Given the description of an element on the screen output the (x, y) to click on. 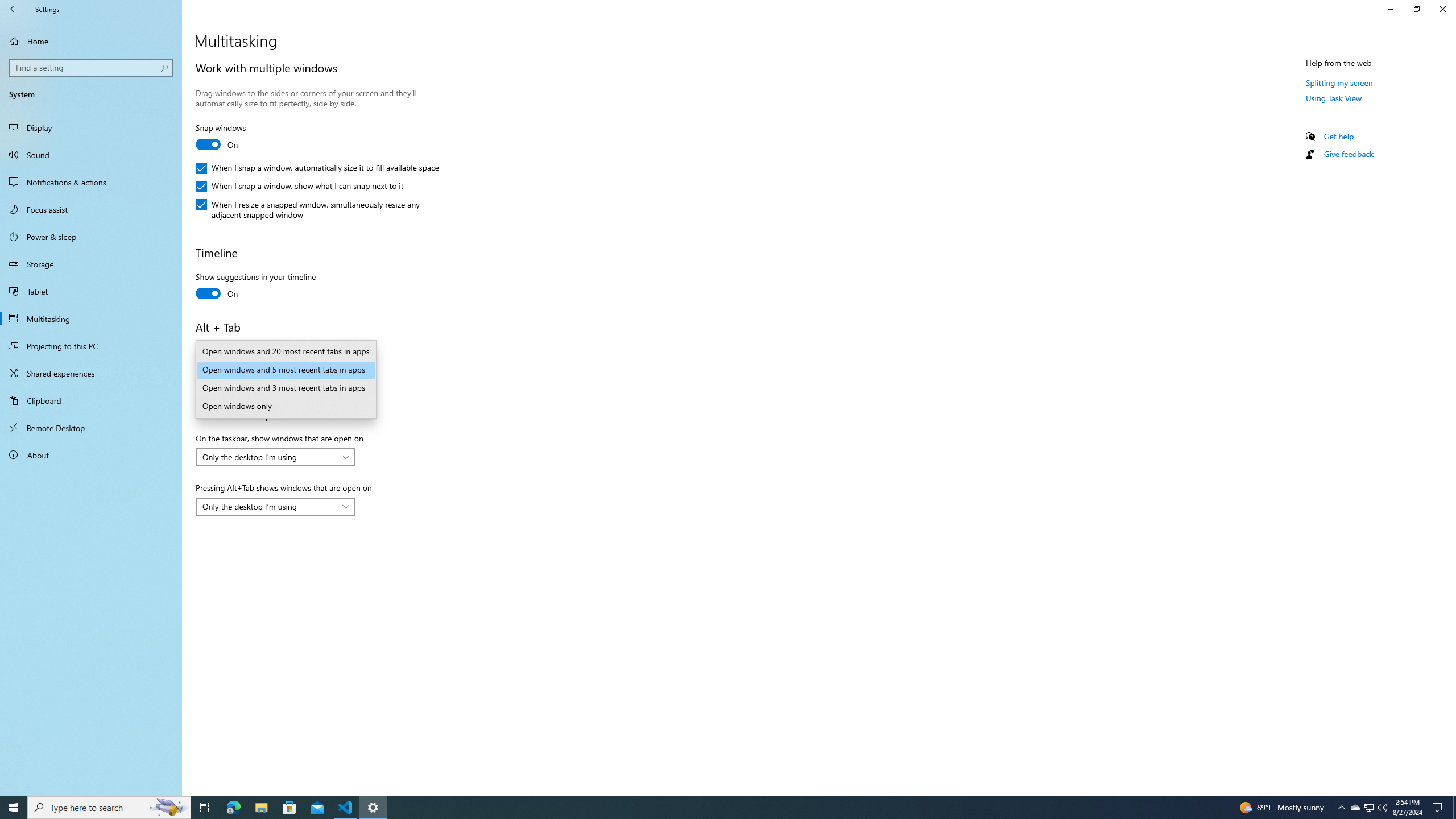
Microsoft Store (289, 807)
About (91, 454)
Visual Studio Code - 1 running window (345, 807)
Using Task View (1334, 97)
Start (13, 807)
Microsoft Edge (233, 807)
Notification Chevron (1341, 807)
Minimize Settings (1390, 9)
Splitting my screen (1339, 82)
When I snap a window, show what I can snap next to it (299, 186)
Power & sleep (91, 236)
Restore Settings (1416, 9)
